Given the description of an element on the screen output the (x, y) to click on. 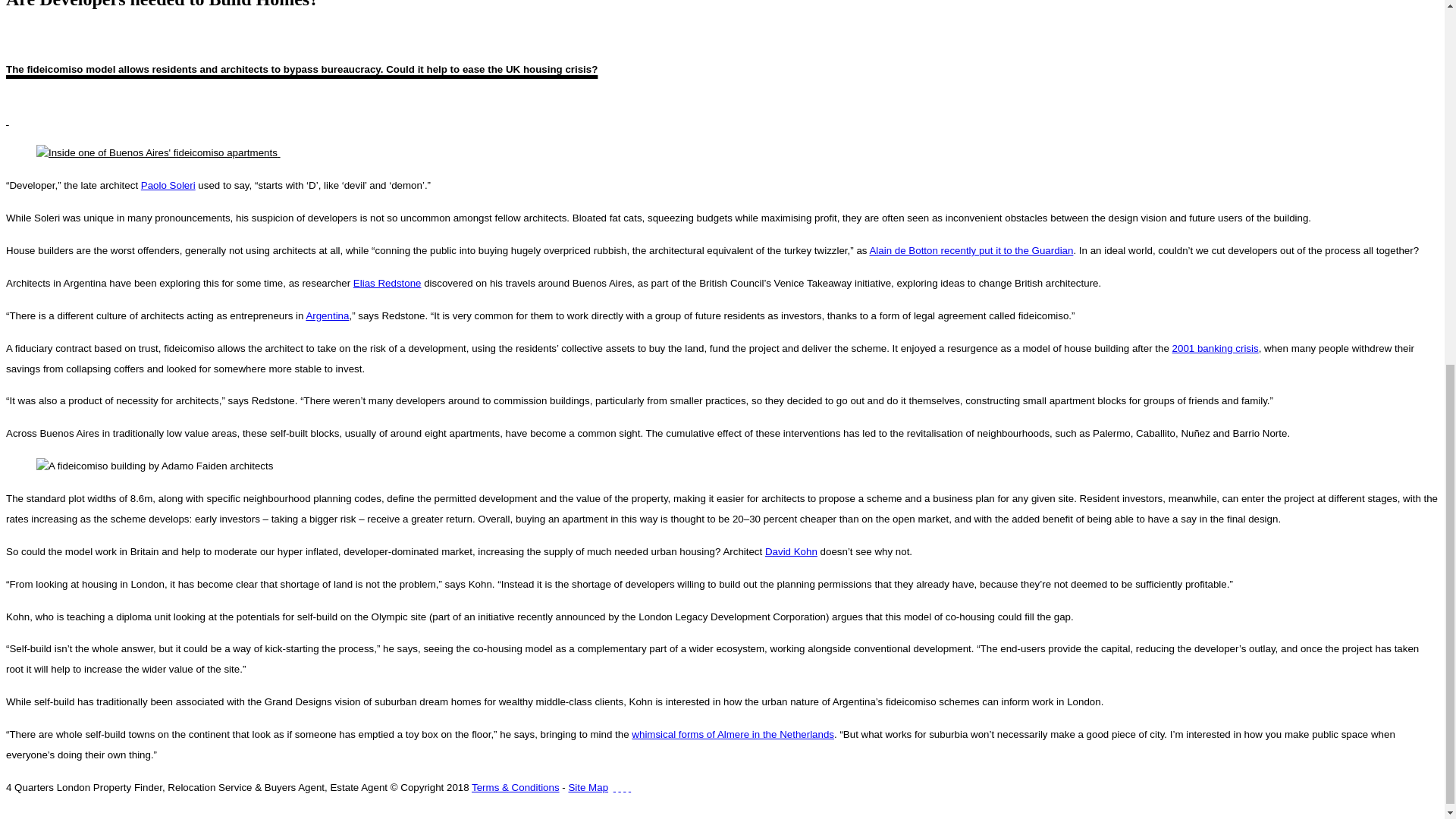
Argentina (327, 315)
Alain de Botton recently put it to the Guardian (971, 250)
David Kohn (790, 551)
Paolo Soleri (168, 184)
Elias Redstone (387, 283)
whimsical forms of Almere in the Netherlands (732, 734)
2001 banking crisis (1215, 348)
Site Map (587, 787)
